Given the description of an element on the screen output the (x, y) to click on. 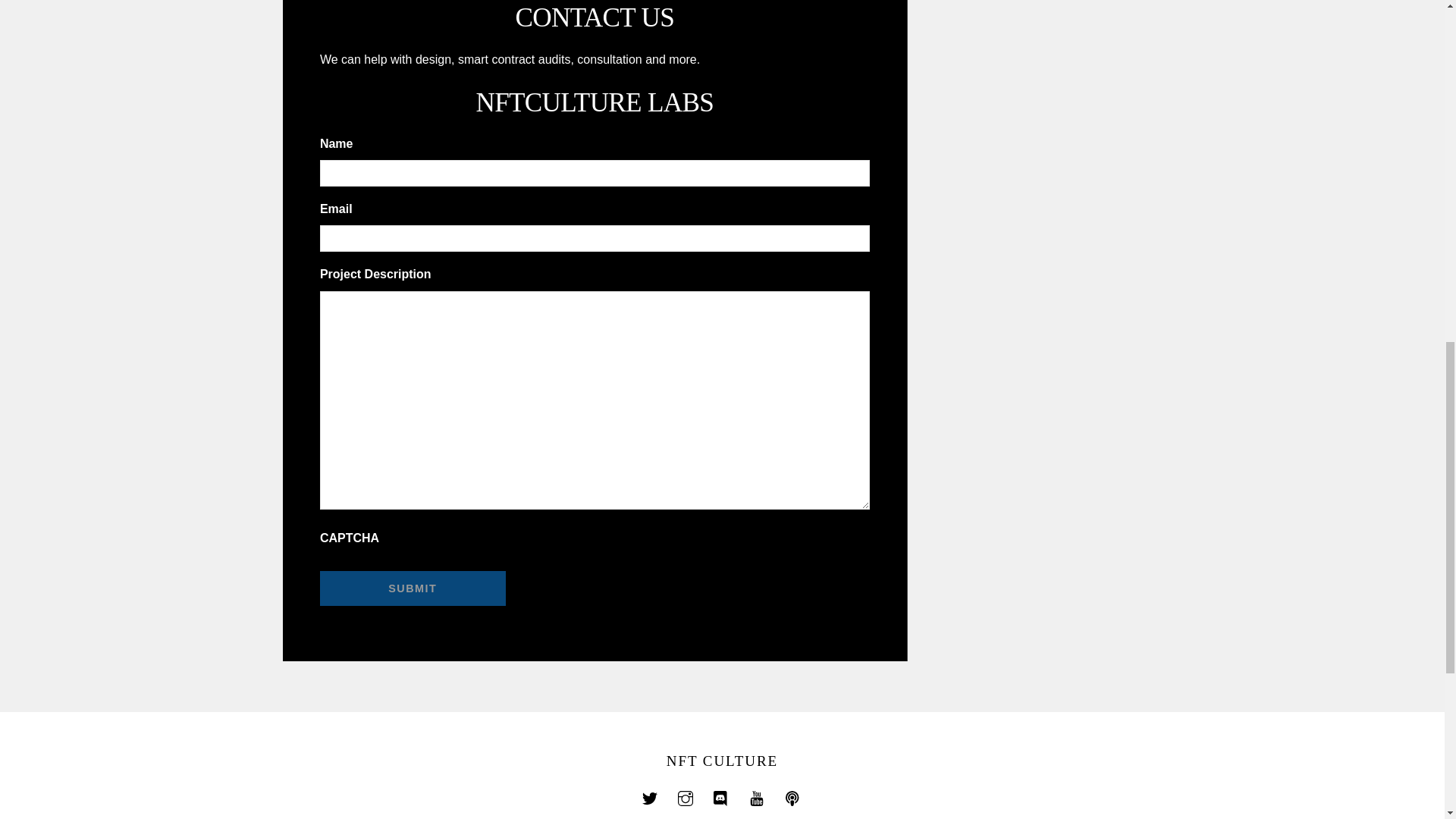
Submit (412, 588)
NFT CULTURE (721, 760)
Submit (412, 588)
